Given the description of an element on the screen output the (x, y) to click on. 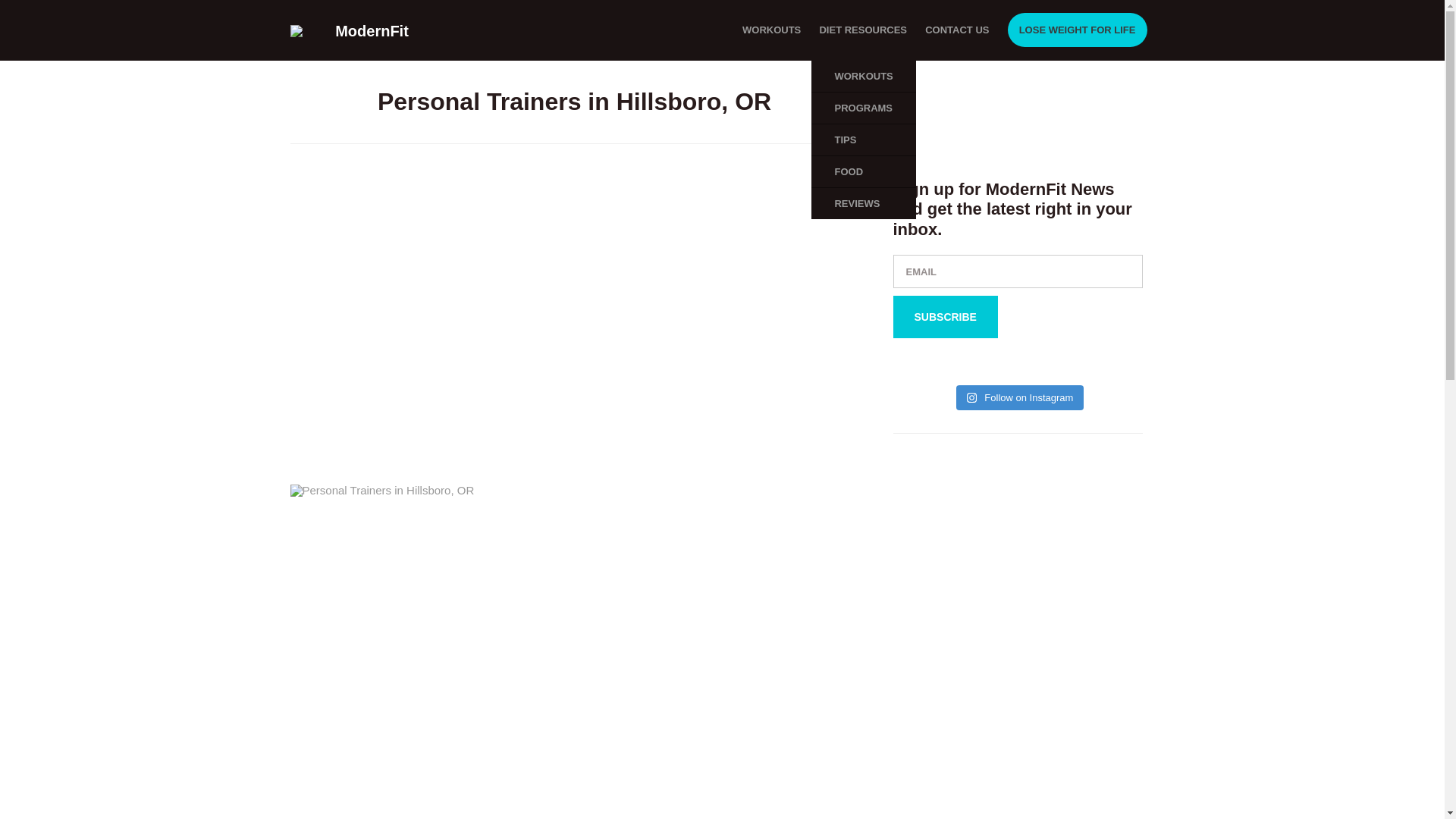
FOOD (862, 171)
Subscribe (945, 316)
Subscribe (945, 316)
CONTACT US (956, 30)
REVIEWS (862, 203)
Follow on Instagram (1020, 397)
PROGRAMS (862, 107)
WORKOUTS (862, 75)
TIPS (862, 139)
